Given the description of an element on the screen output the (x, y) to click on. 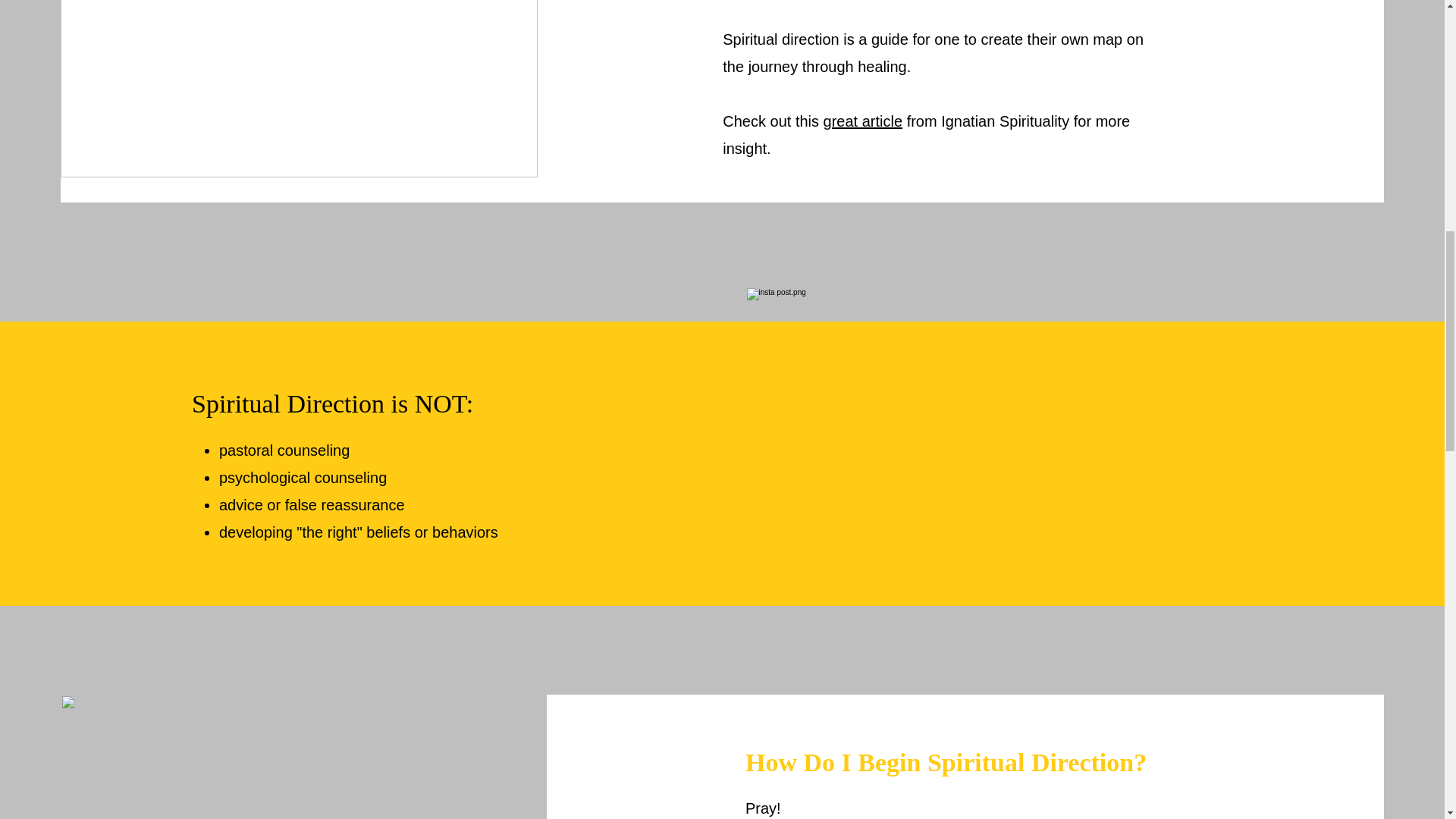
great article (863, 121)
